Given the description of an element on the screen output the (x, y) to click on. 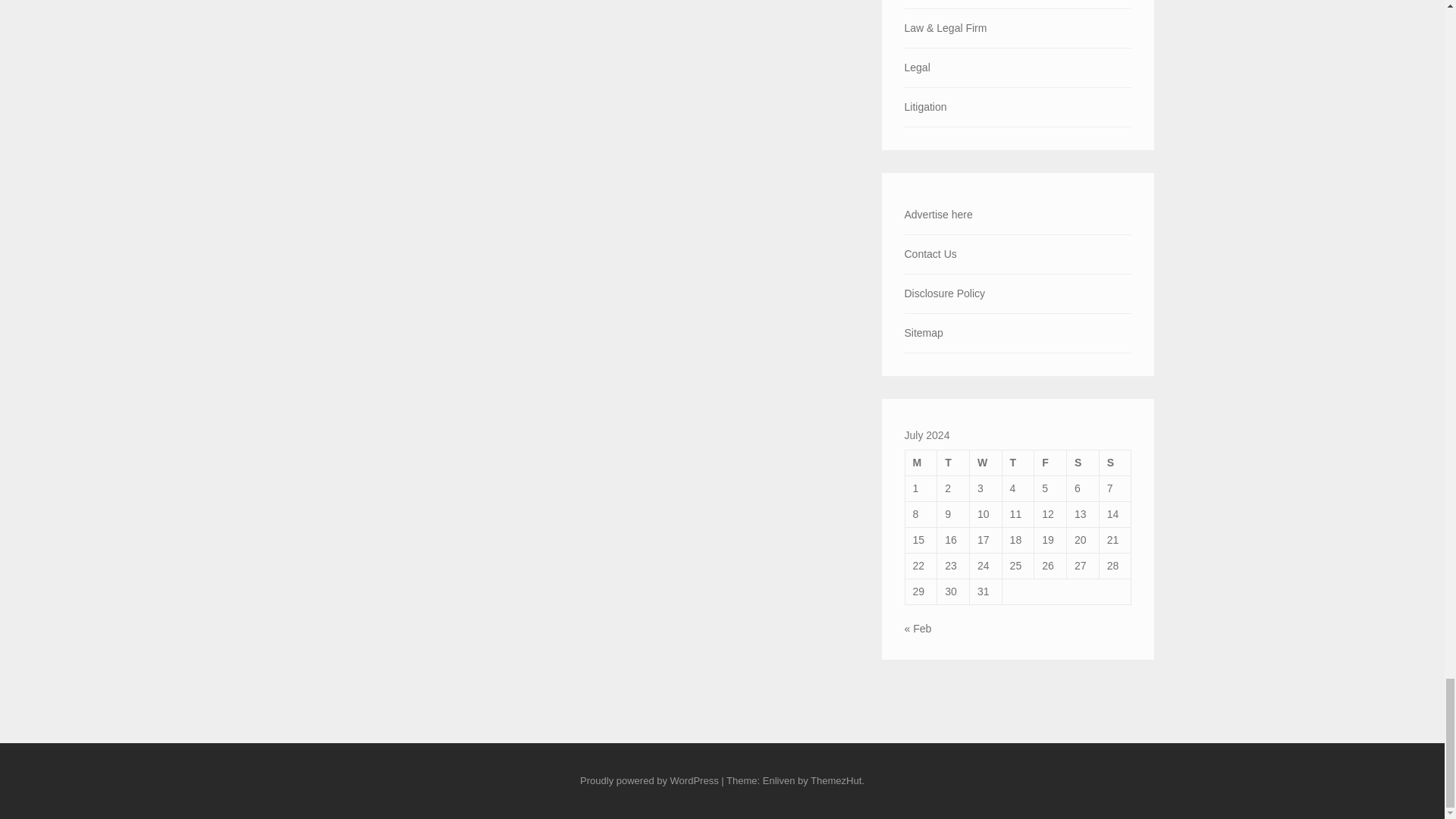
Monday (920, 462)
Wednesday (985, 462)
Saturday (1083, 462)
Sunday (1115, 462)
Thursday (1017, 462)
Tuesday (953, 462)
Friday (1050, 462)
